Given the description of an element on the screen output the (x, y) to click on. 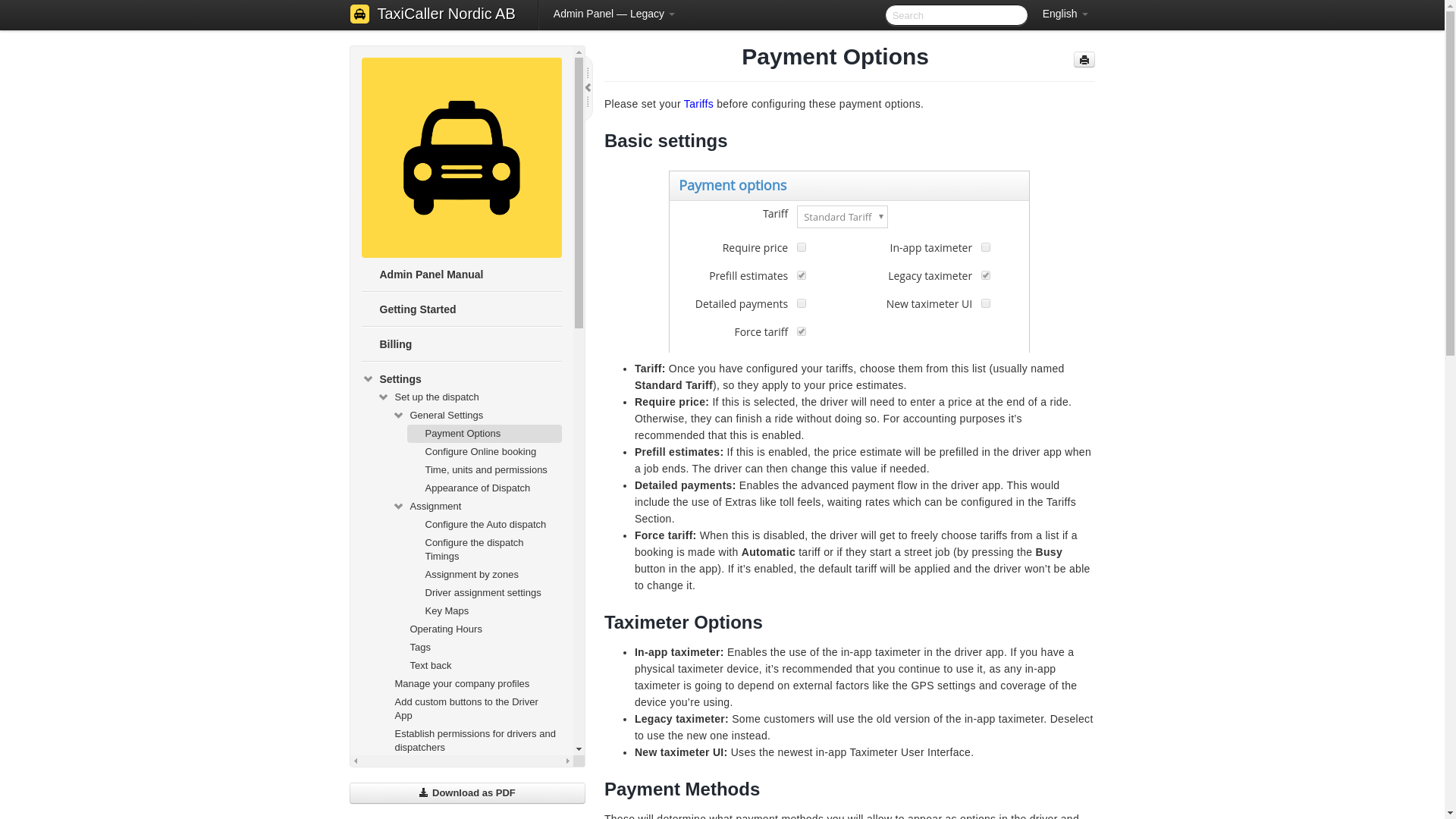
English (1065, 14)
TaxiCaller Nordic AB (446, 15)
Basic Payment Options (849, 260)
Print page (1084, 59)
Basic Payment Options (849, 263)
